Given the description of an element on the screen output the (x, y) to click on. 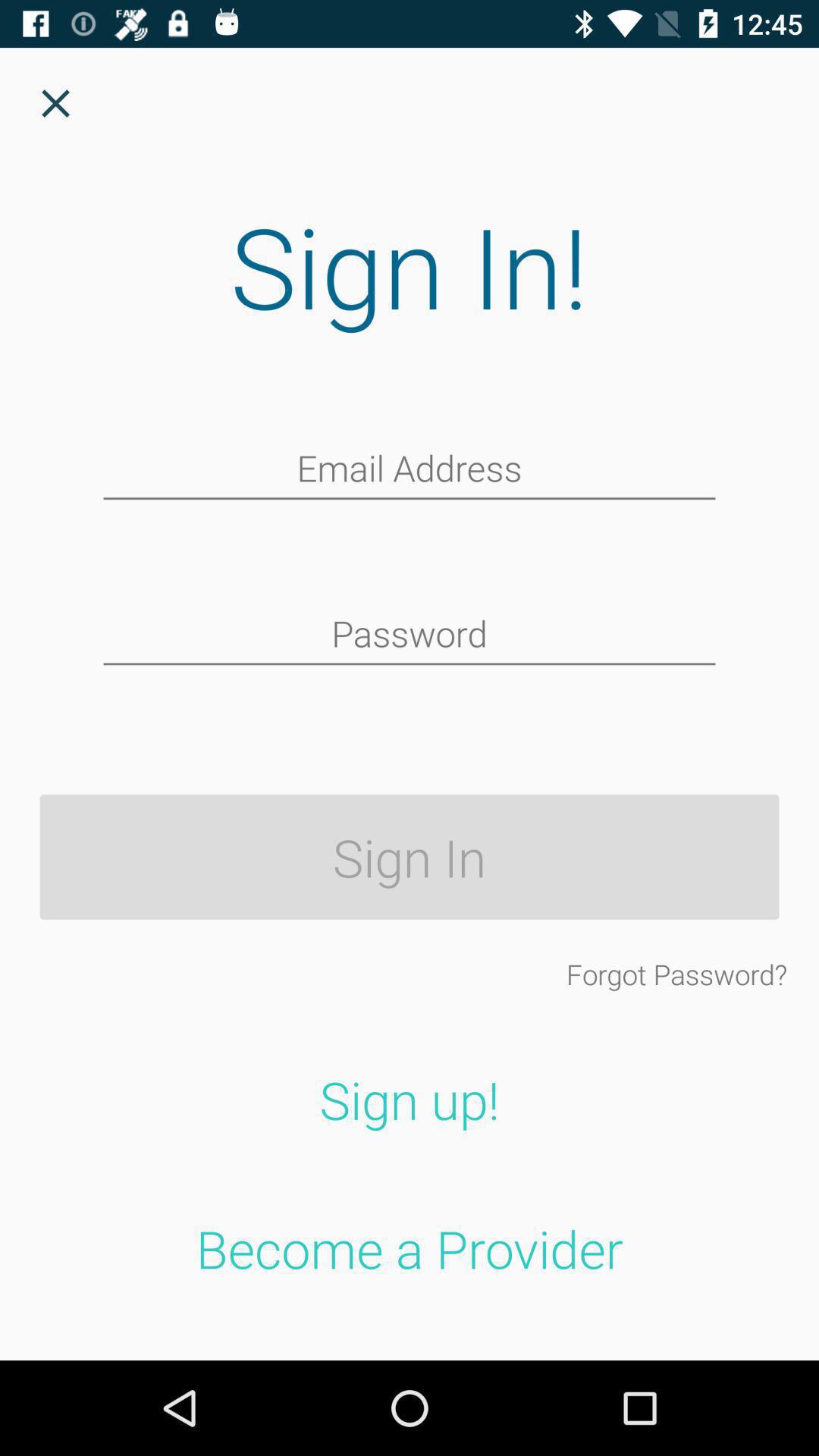
password (409, 635)
